Given the description of an element on the screen output the (x, y) to click on. 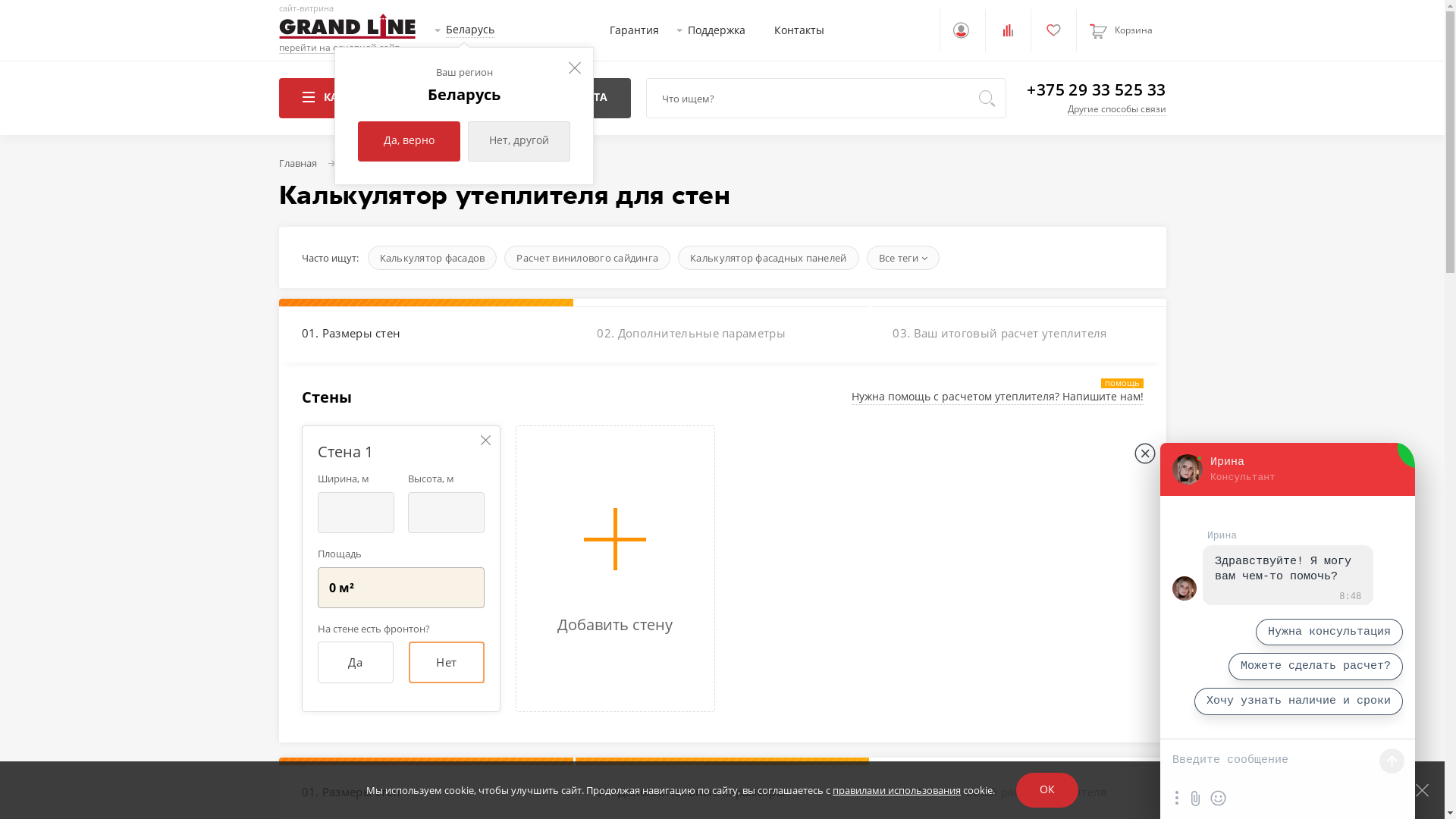
+375 29 33 525 33 Element type: text (1095, 89)
